Given the description of an element on the screen output the (x, y) to click on. 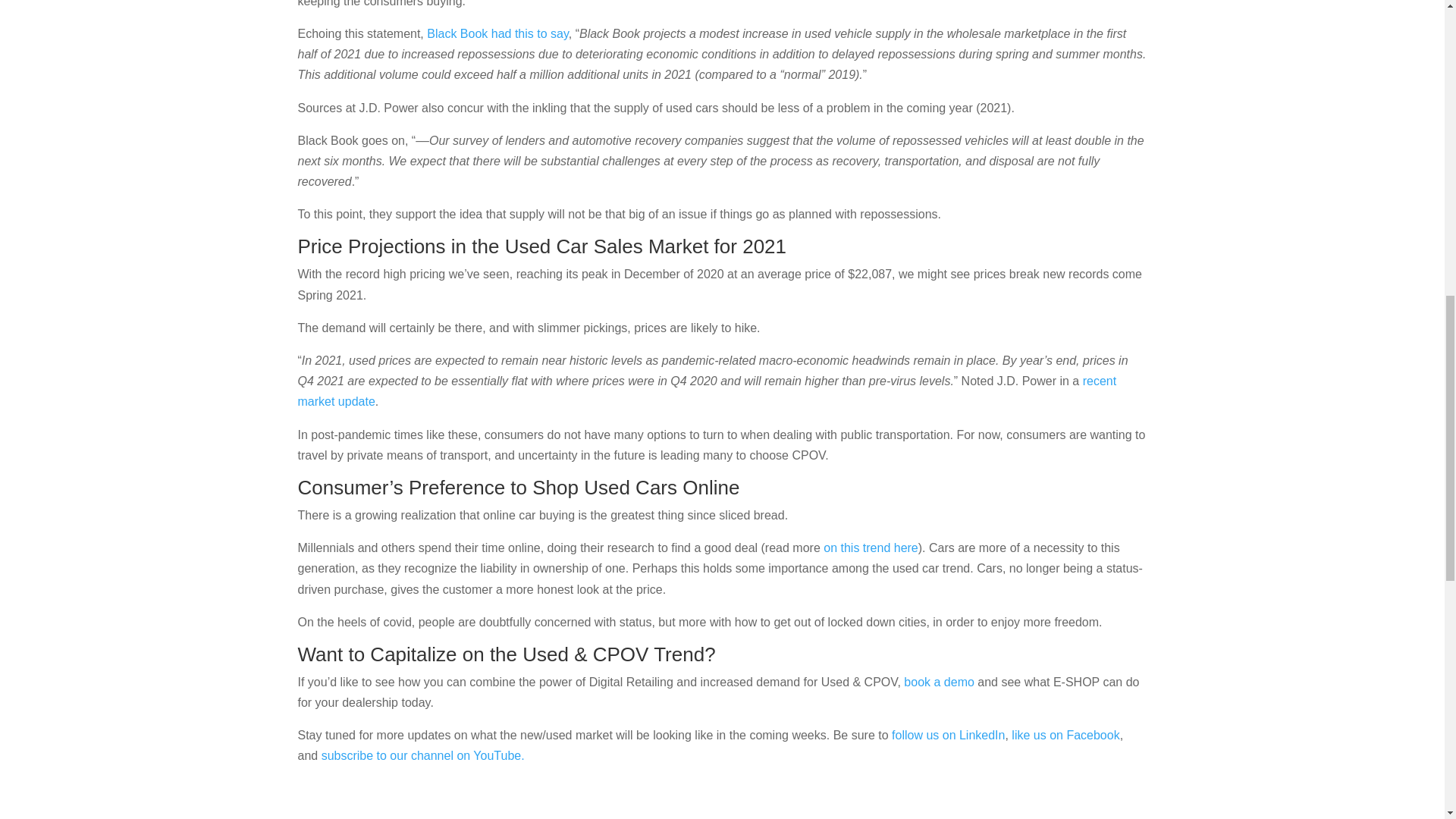
Black Book had this to say (496, 33)
book a demo (939, 681)
like us on Facebook (1065, 735)
subscribe to our channel on YouTube.  (424, 755)
follow us on LinkedIn (947, 735)
on this trend here (871, 547)
recent market update (706, 390)
